Given the description of an element on the screen output the (x, y) to click on. 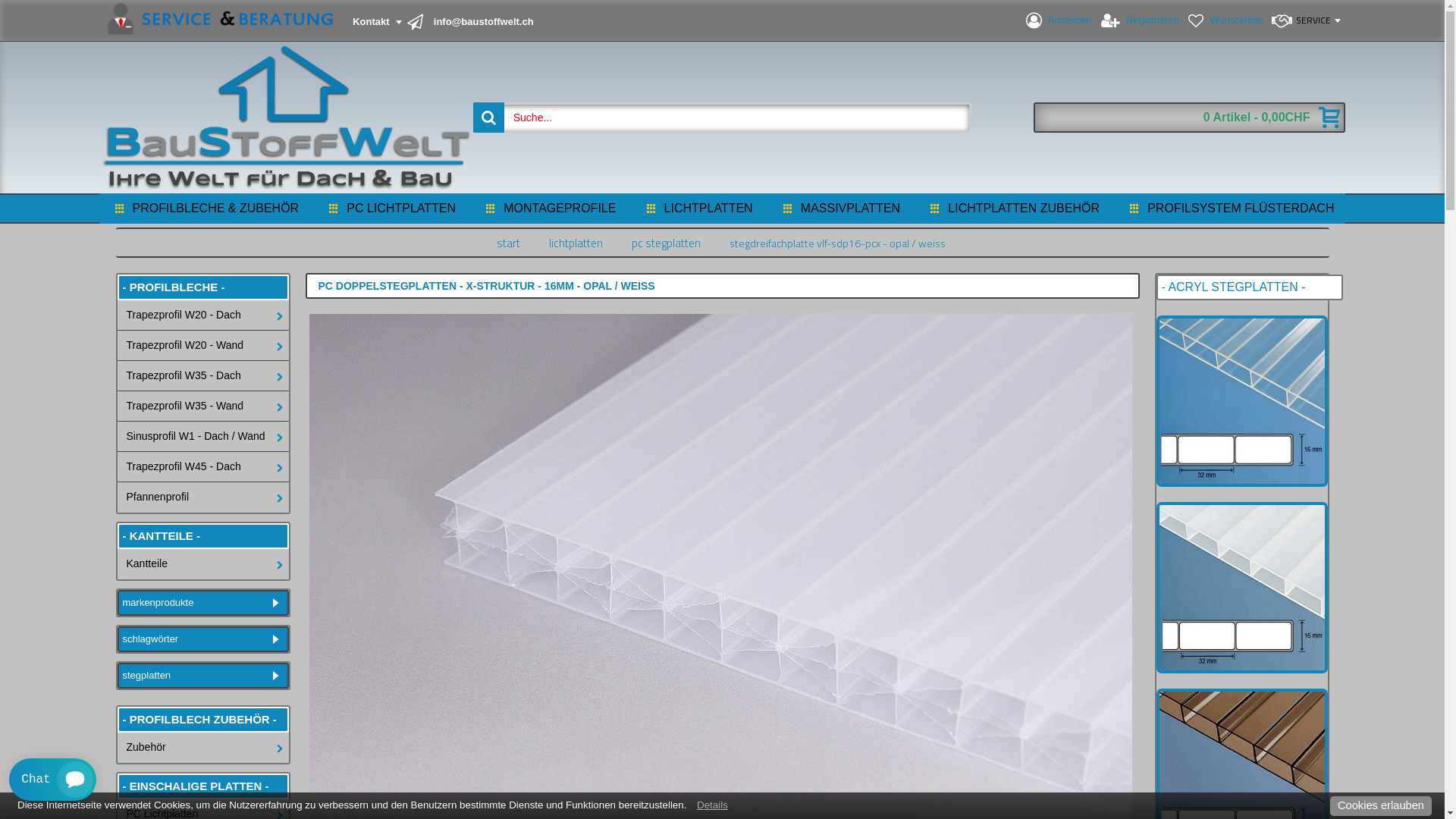
Trapezprofil W35 - Dach Element type: text (202, 375)
start Element type: text (507, 242)
PC LICHTPLATTEN Element type: text (390, 208)
MONTAGEPROFILE Element type: text (548, 208)
Kantteile Element type: text (202, 564)
Pfannenprofil Element type: text (202, 497)
Anmelden Element type: text (1058, 20)
Details Element type: text (712, 804)
Trapezprofil W35 - Wand Element type: text (202, 406)
stegdreifachplatte vlf-sdp16-pcx - opal / weiss Element type: text (837, 242)
lichtplatten Element type: text (575, 242)
Smartsupp widget button Element type: hover (52, 779)
MASSIVPLATTEN Element type: text (839, 208)
Sinusprofil W1 - Dach / Wand Element type: text (202, 436)
Wunschliste Element type: text (1225, 20)
Trapezprofil W20 - Wand Element type: text (202, 345)
LICHTPLATTEN Element type: text (697, 208)
0 Artikel - 0,00CHF Element type: text (1189, 117)
Kontakt Element type: text (253, 22)
Registrieren Element type: text (1139, 20)
Cookies erlauben Element type: text (1380, 806)
info@baustoffwelt.ch Element type: text (471, 22)
Trapezprofil W20 - Dach Element type: text (202, 315)
pc stegplatten Element type: text (664, 242)
Trapezprofil W45 - Dach Element type: text (202, 466)
